Given the description of an element on the screen output the (x, y) to click on. 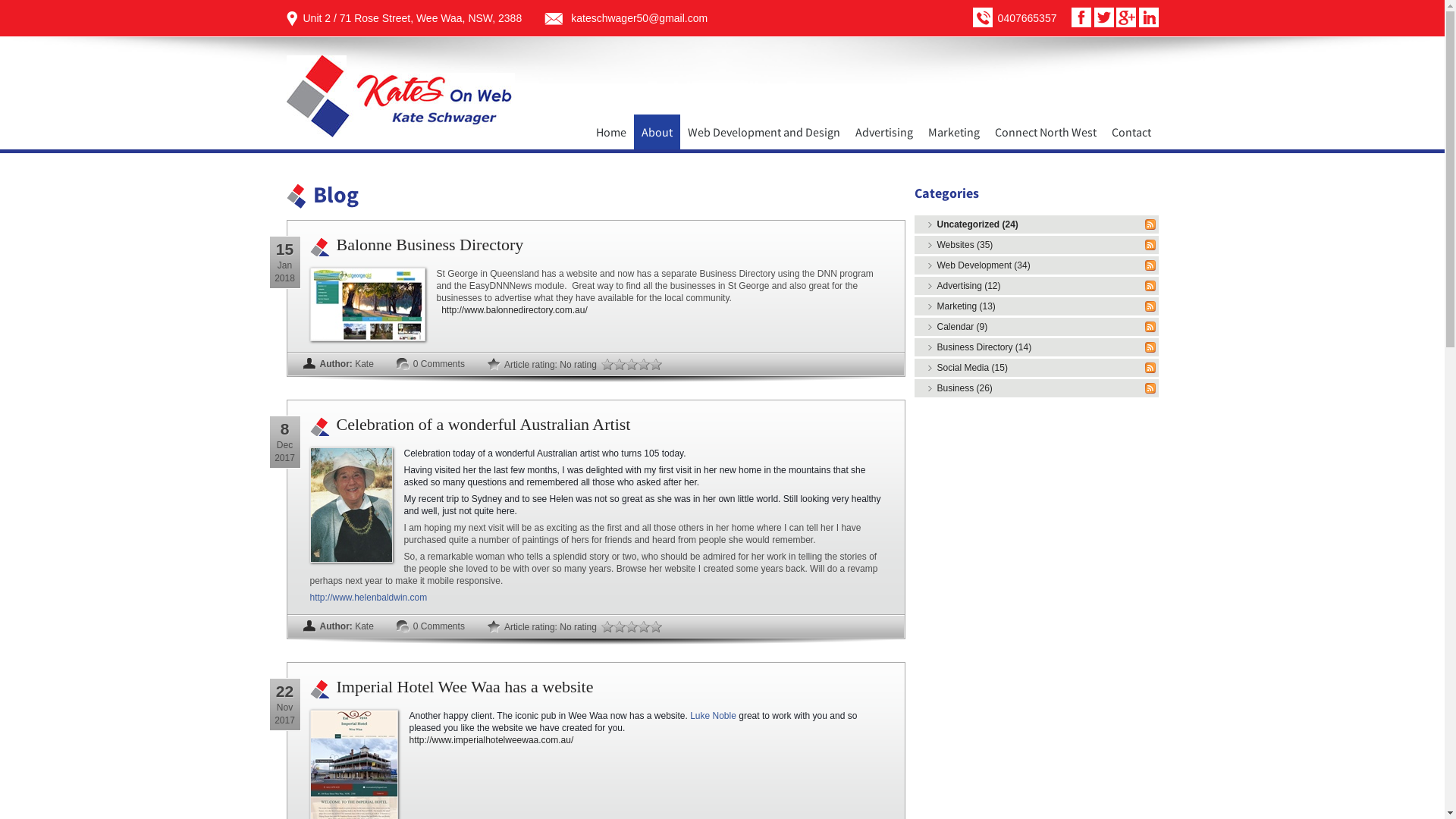
Websites (35) Element type: text (965, 244)
Business (26) Element type: text (964, 387)
http://www.balonnedirectory.com.au/ Element type: text (514, 309)
RSS Element type: hover (1150, 244)
Facebook Element type: hover (1081, 17)
Calendar (9) Element type: text (962, 326)
Connect North West Element type: text (1045, 131)
Contact Element type: text (1131, 131)
RSS Element type: hover (1150, 306)
Web Development and Design Element type: text (763, 131)
RSS Element type: hover (1150, 265)
About Element type: text (656, 131)
Kate Element type: text (363, 626)
kateschwager50@gmail.com Element type: text (639, 18)
Kate Element type: text (363, 363)
Business Directory (14) Element type: text (984, 347)
Marketing (13) Element type: text (966, 306)
RSS Element type: hover (1150, 367)
Blogspot Element type: hover (1125, 17)
Twitter Element type: hover (1103, 17)
Web Development (34) Element type: text (983, 265)
RSS Element type: hover (1150, 326)
RSS Element type: hover (1150, 224)
Home Element type: text (610, 131)
Luke Noble Element type: text (713, 715)
Advertising Element type: text (883, 131)
Uncategorized (24) Element type: text (977, 224)
Advertising (12) Element type: text (969, 285)
RSS Element type: hover (1150, 285)
RSS Element type: hover (1150, 347)
Celebration of a wonderful Australian Artist Element type: text (483, 423)
0407665357 Element type: text (1027, 18)
Imperial Hotel Wee Waa has a website Element type: text (464, 686)
Balonne Business Directory Element type: text (430, 244)
http://www.imperialhotelweewaa.com.au/ Element type: text (491, 739)
http://www.helenbaldwin.com Element type: text (367, 597)
Social Media (15) Element type: text (972, 367)
Linkedin Element type: hover (1148, 17)
RSS Element type: hover (1150, 387)
katesonweb Element type: hover (400, 96)
Marketing Element type: text (953, 131)
